Given the description of an element on the screen output the (x, y) to click on. 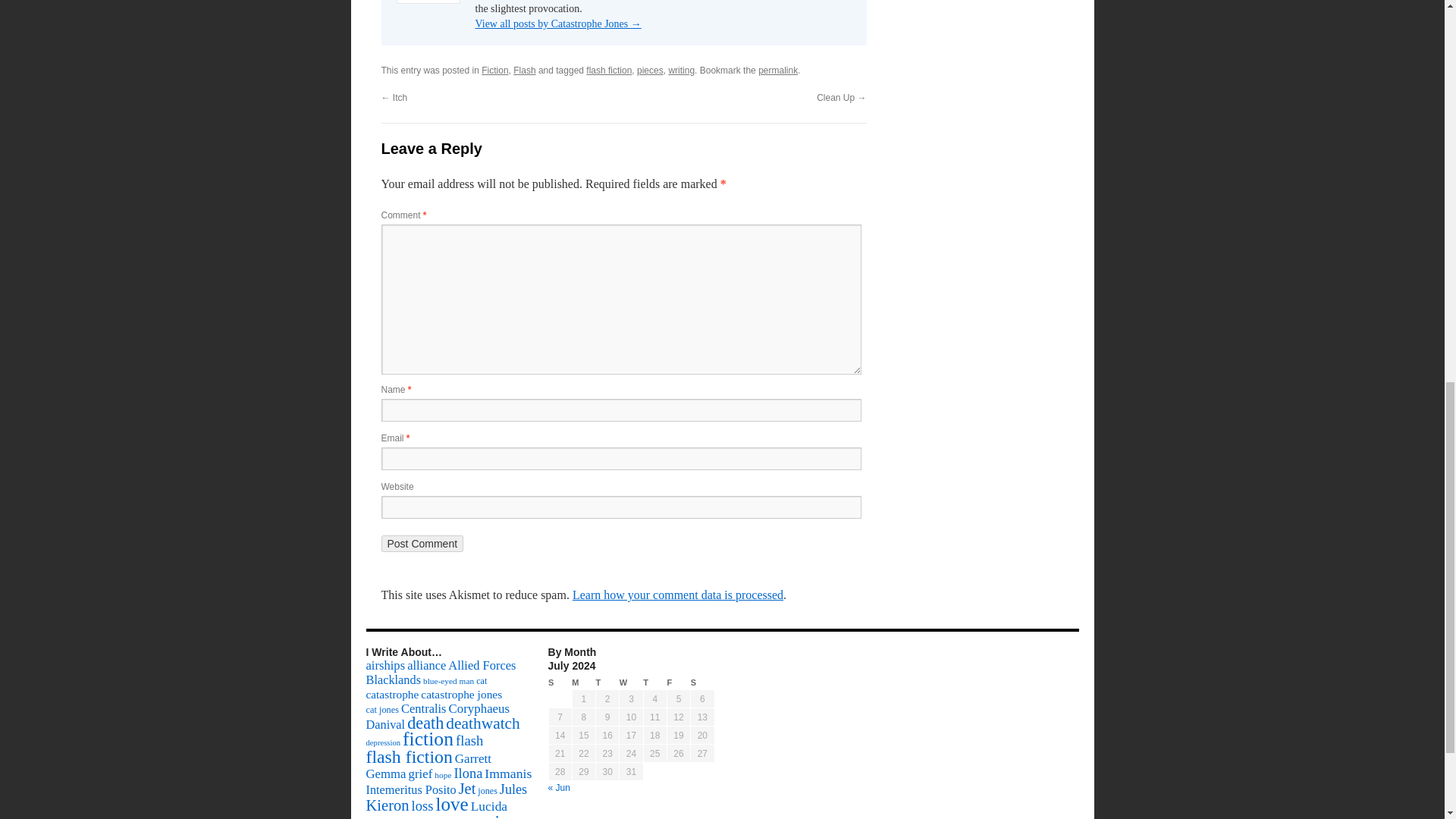
flash fiction (608, 70)
Post Comment (421, 543)
Fiction (494, 70)
Monday (583, 682)
Sunday (560, 682)
Permalink to Nightmares I Can't Remember (777, 70)
pieces (650, 70)
permalink (777, 70)
writing (681, 70)
Post Comment (421, 543)
Learn how your comment data is processed (677, 594)
Flash (524, 70)
